Given the description of an element on the screen output the (x, y) to click on. 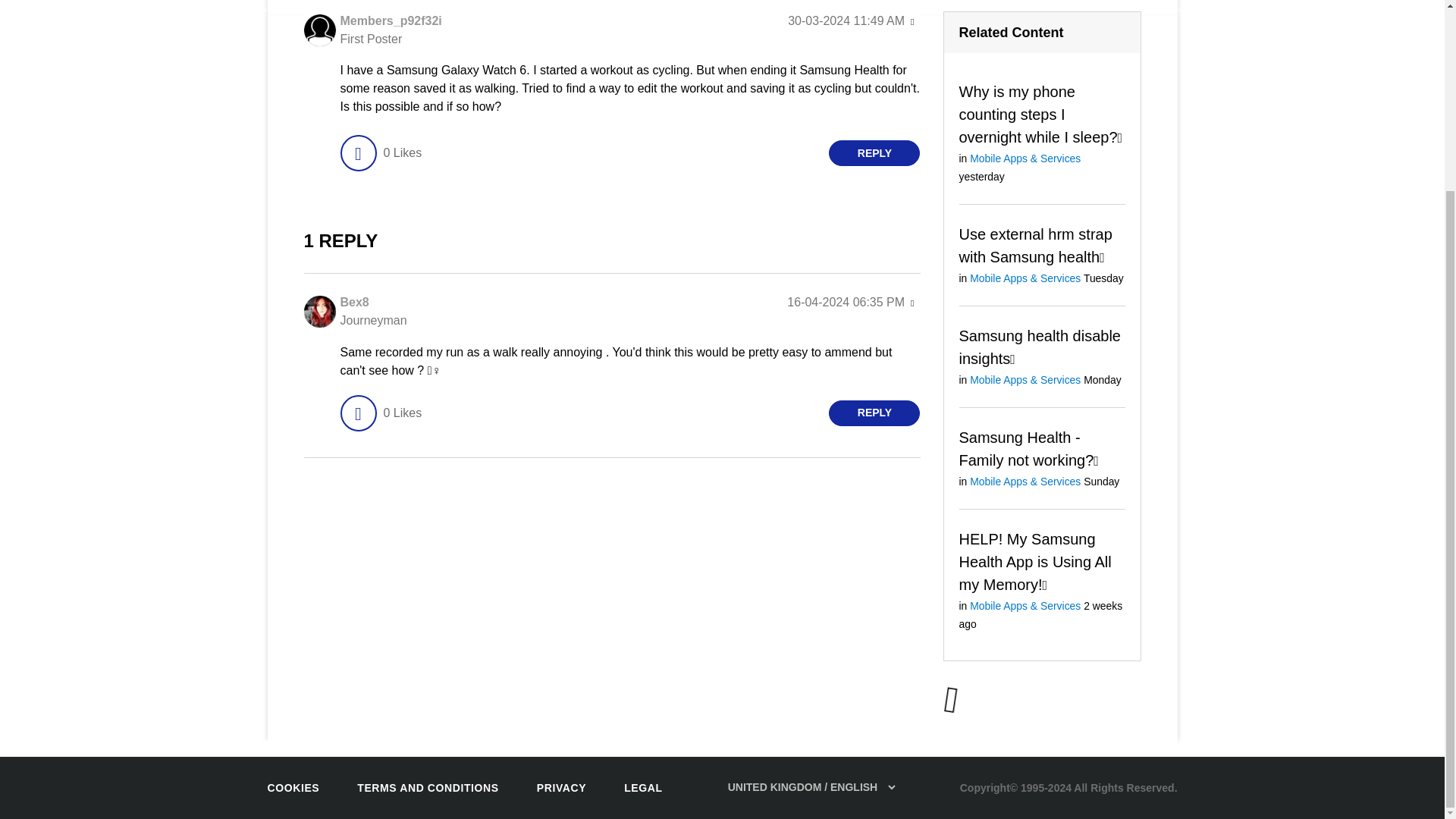
REPLY (874, 153)
Click here to give likes to this post. (357, 153)
Show option menu (912, 22)
The total number of likes this post has received. (401, 153)
Bex8 (353, 301)
